Given the description of an element on the screen output the (x, y) to click on. 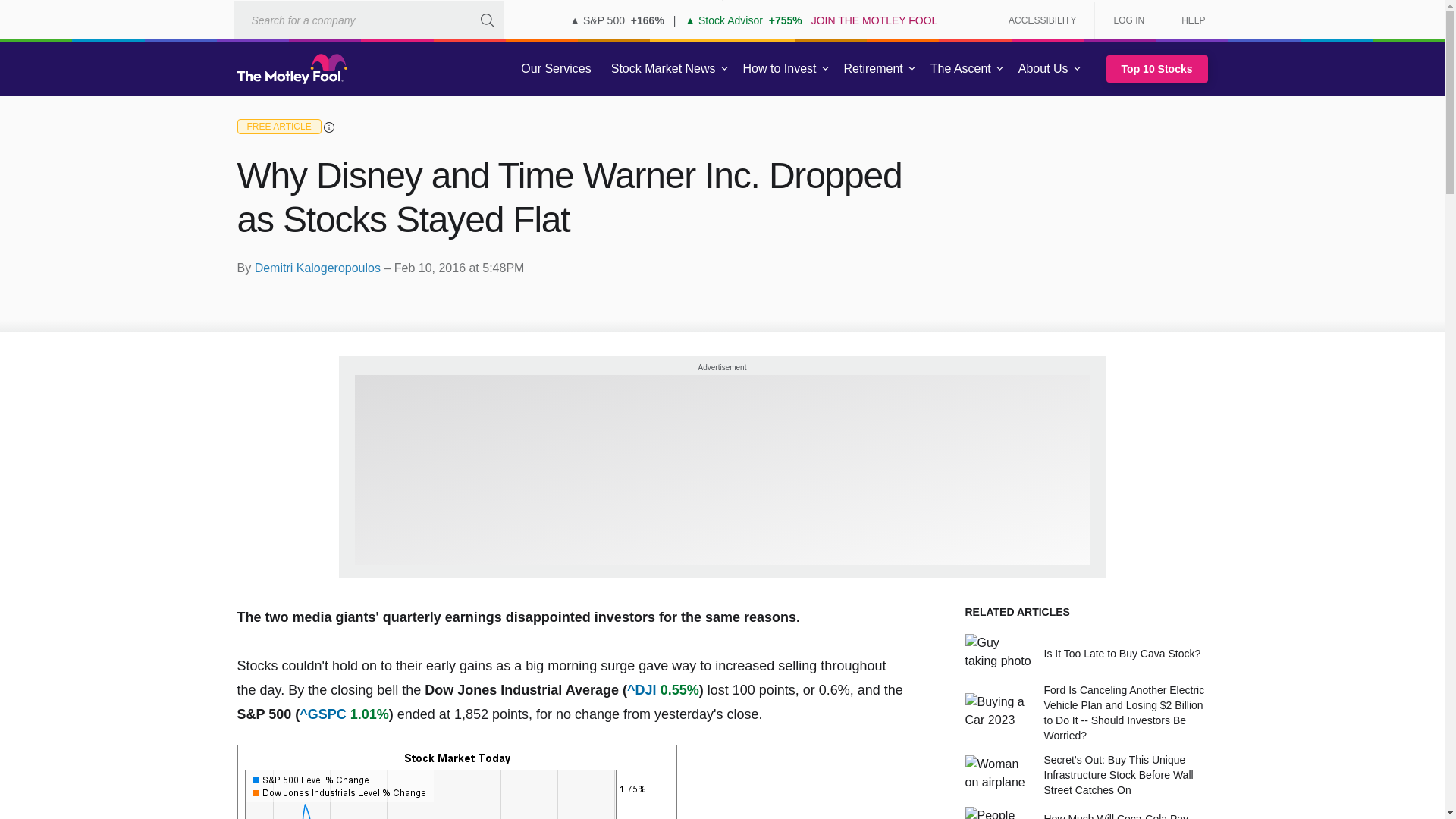
Stock Market News (662, 68)
HELP (1187, 19)
ACCESSIBILITY (1042, 19)
How to Invest (779, 68)
Our Services (555, 68)
LOG IN (1128, 19)
